Given the description of an element on the screen output the (x, y) to click on. 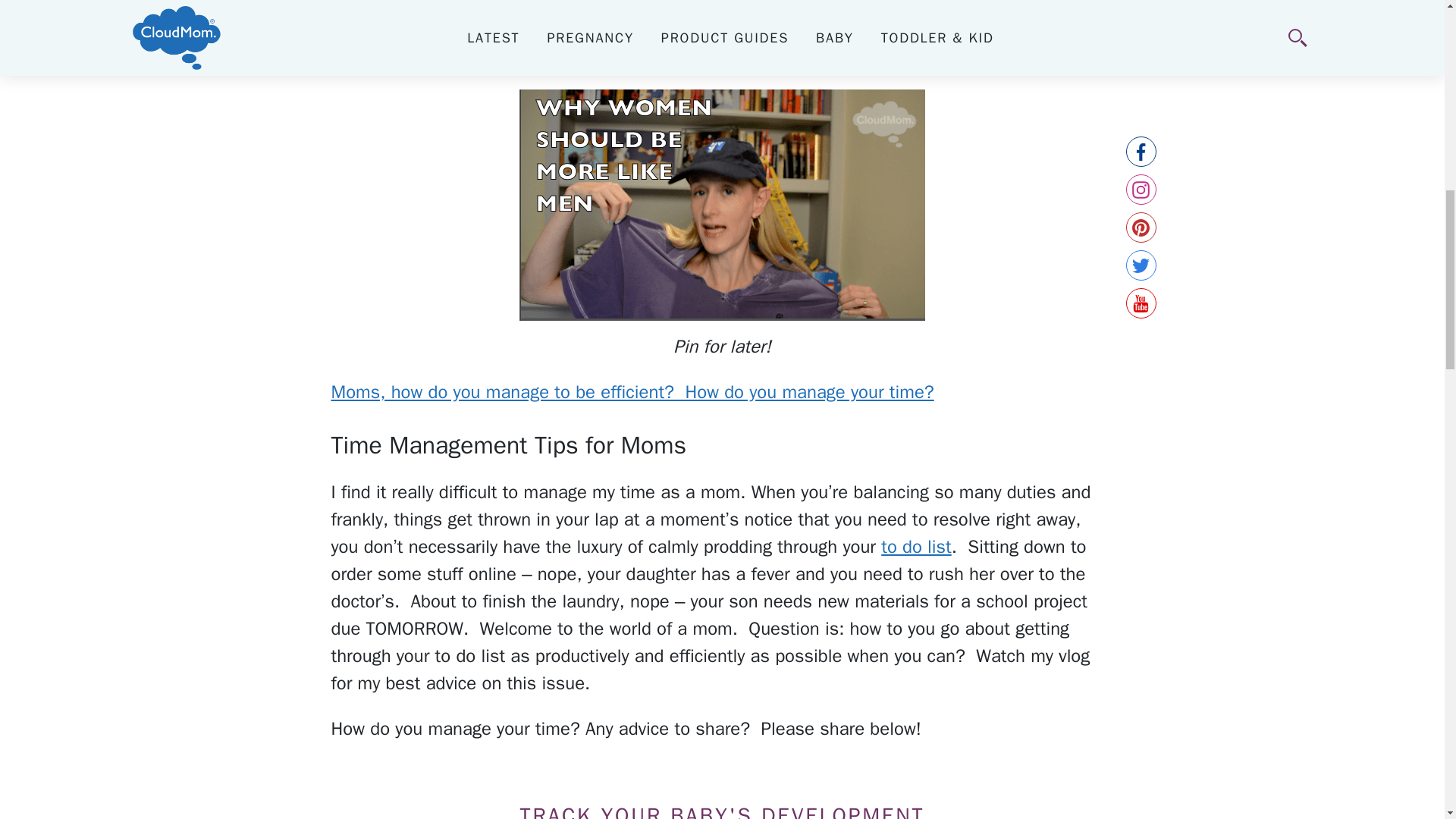
One Thing Not to Do in Front of Your Kids (451, 29)
How To Just Get By (915, 546)
Why Women Need To Be More Like Men (721, 205)
